Given the description of an element on the screen output the (x, y) to click on. 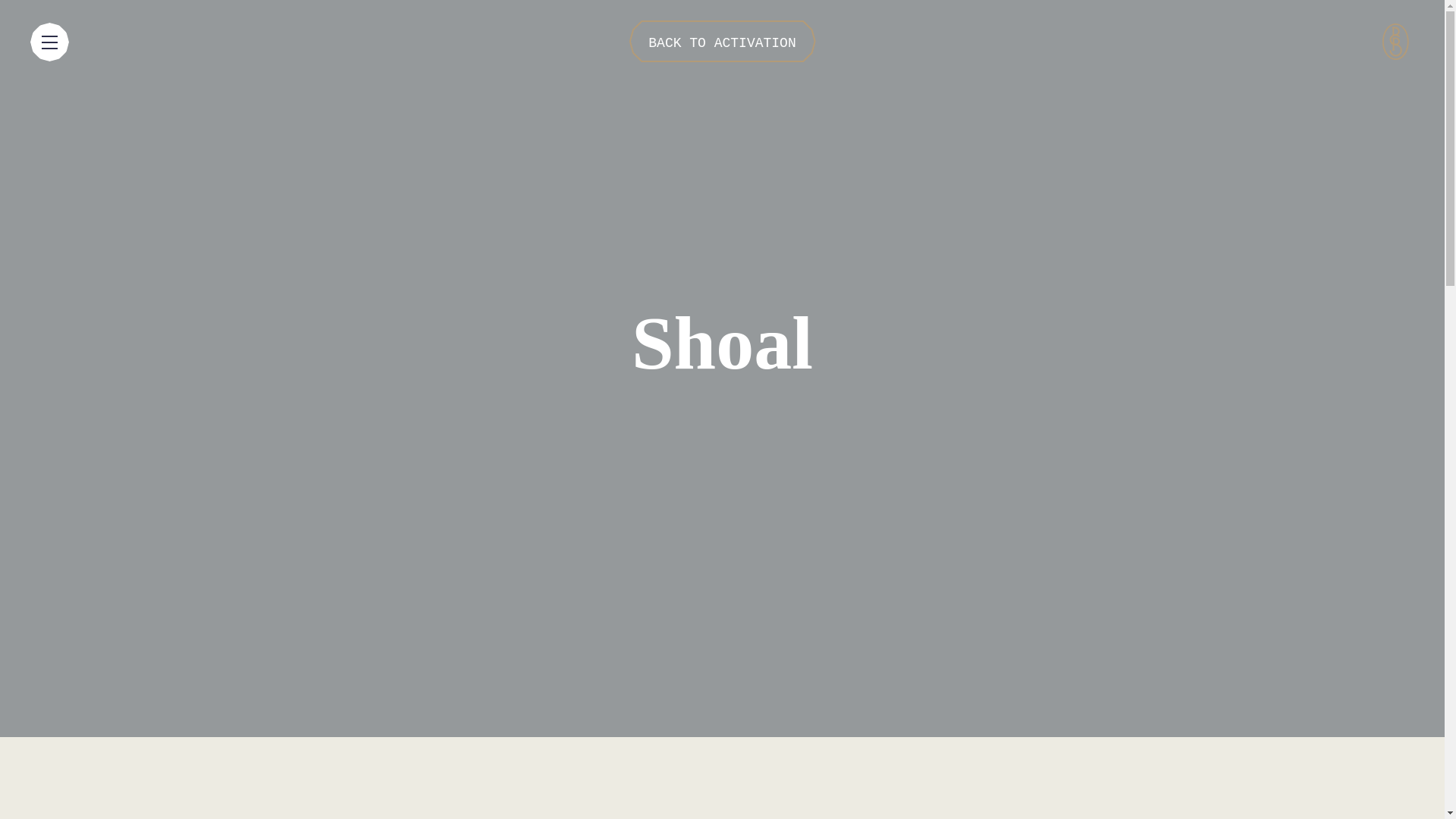
BACK TO ACTIVATION Element type: text (721, 41)
